Given the description of an element on the screen output the (x, y) to click on. 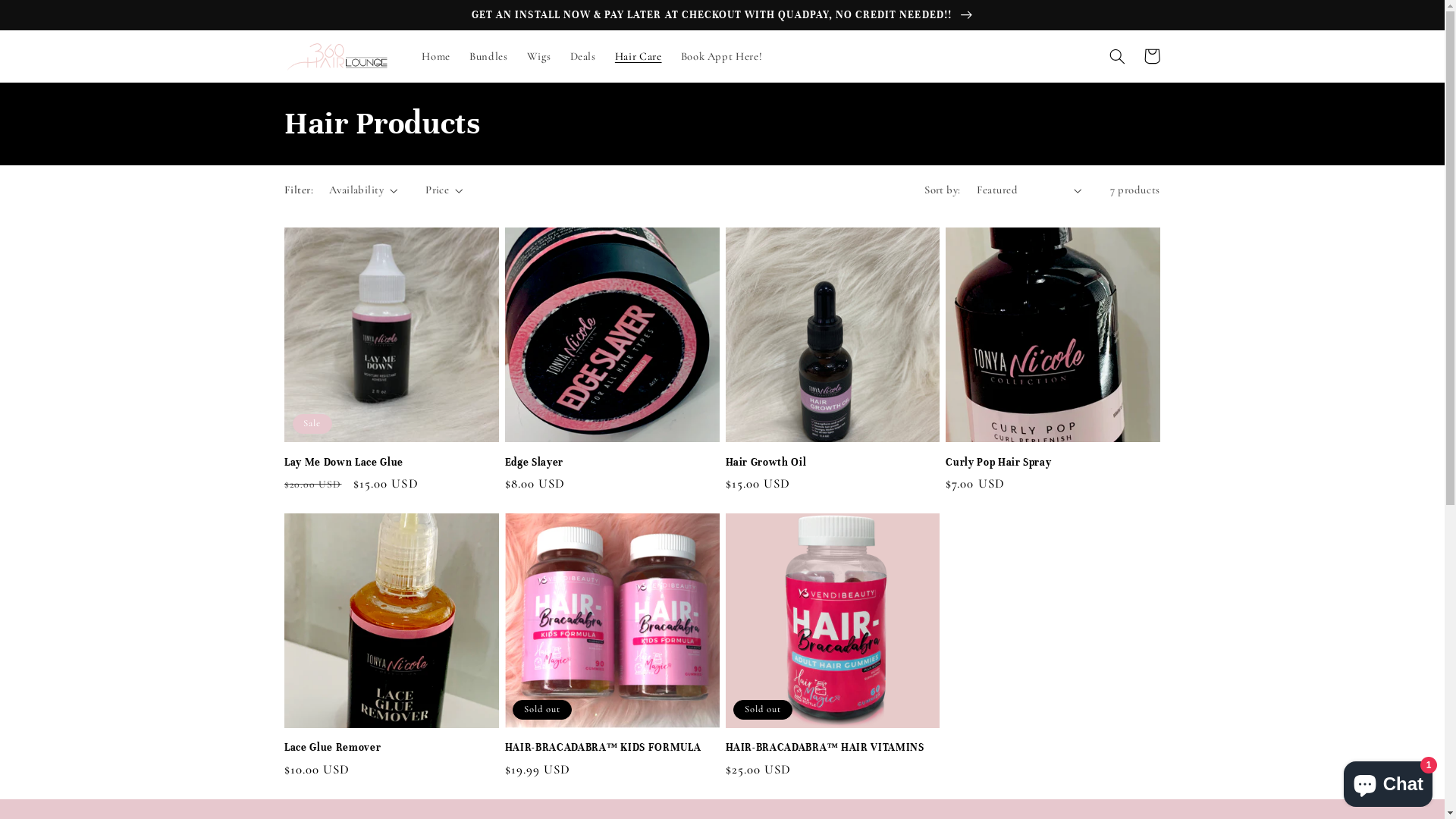
Curly Pop Hair Spray Element type: text (1052, 461)
Shopify online store chat Element type: hover (1388, 780)
Book Appt Here! Element type: text (721, 55)
Hair Growth Oil Element type: text (831, 461)
Wigs Element type: text (538, 55)
Bundles Element type: text (488, 55)
Deals Element type: text (582, 55)
Home Element type: text (436, 55)
Edge Slayer Element type: text (612, 461)
Lace Glue Remover Element type: text (391, 747)
Lay Me Down Lace Glue Element type: text (391, 461)
Cart Element type: text (1151, 55)
Hair Care Element type: text (638, 55)
